Given the description of an element on the screen output the (x, y) to click on. 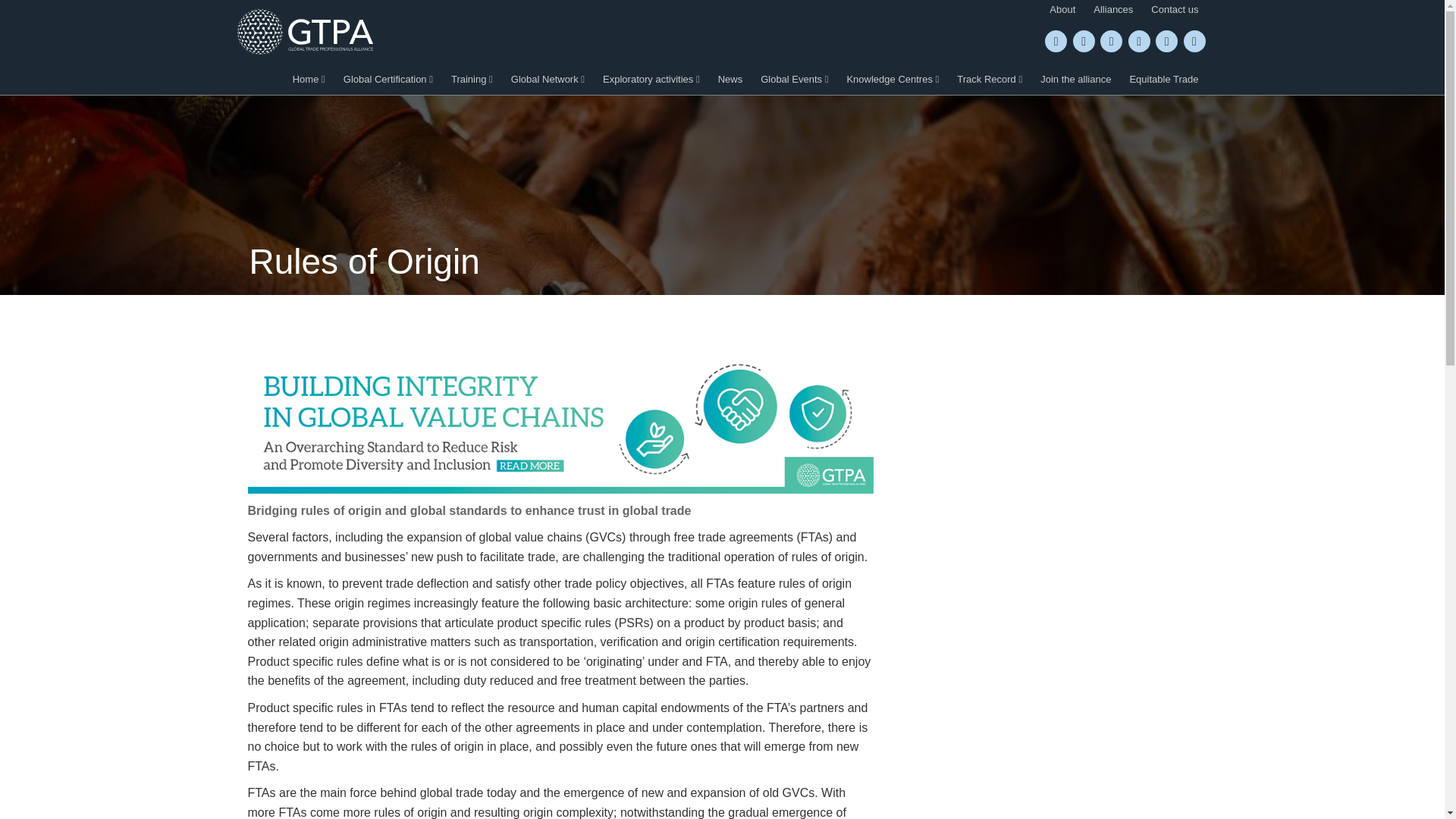
Global Network (548, 79)
Exploratory activities (651, 79)
Global Trade Professionals Alliance (303, 31)
Alliances (1112, 9)
Home (308, 79)
Global Certification (388, 79)
About (1062, 9)
Contact us (1174, 9)
Training (472, 79)
Home (308, 79)
